Given the description of an element on the screen output the (x, y) to click on. 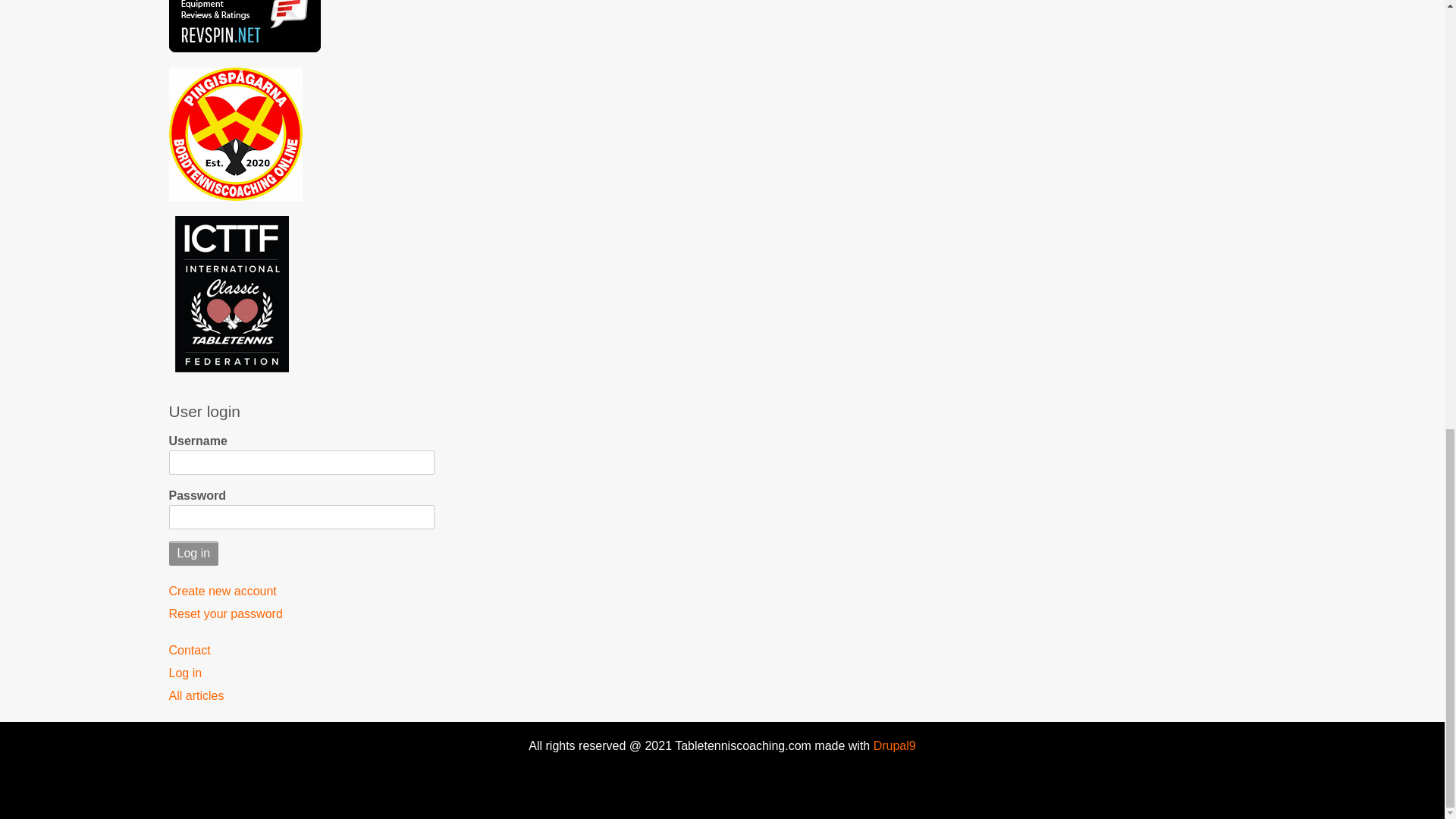
Drupal9 (892, 745)
Send password reset instructions via email. (300, 613)
Contact (300, 649)
Log in (300, 672)
Create new account (300, 590)
Create a new user account. (300, 590)
Log in (193, 553)
Log in (193, 553)
All articles (300, 695)
Reset your password (300, 613)
